Given the description of an element on the screen output the (x, y) to click on. 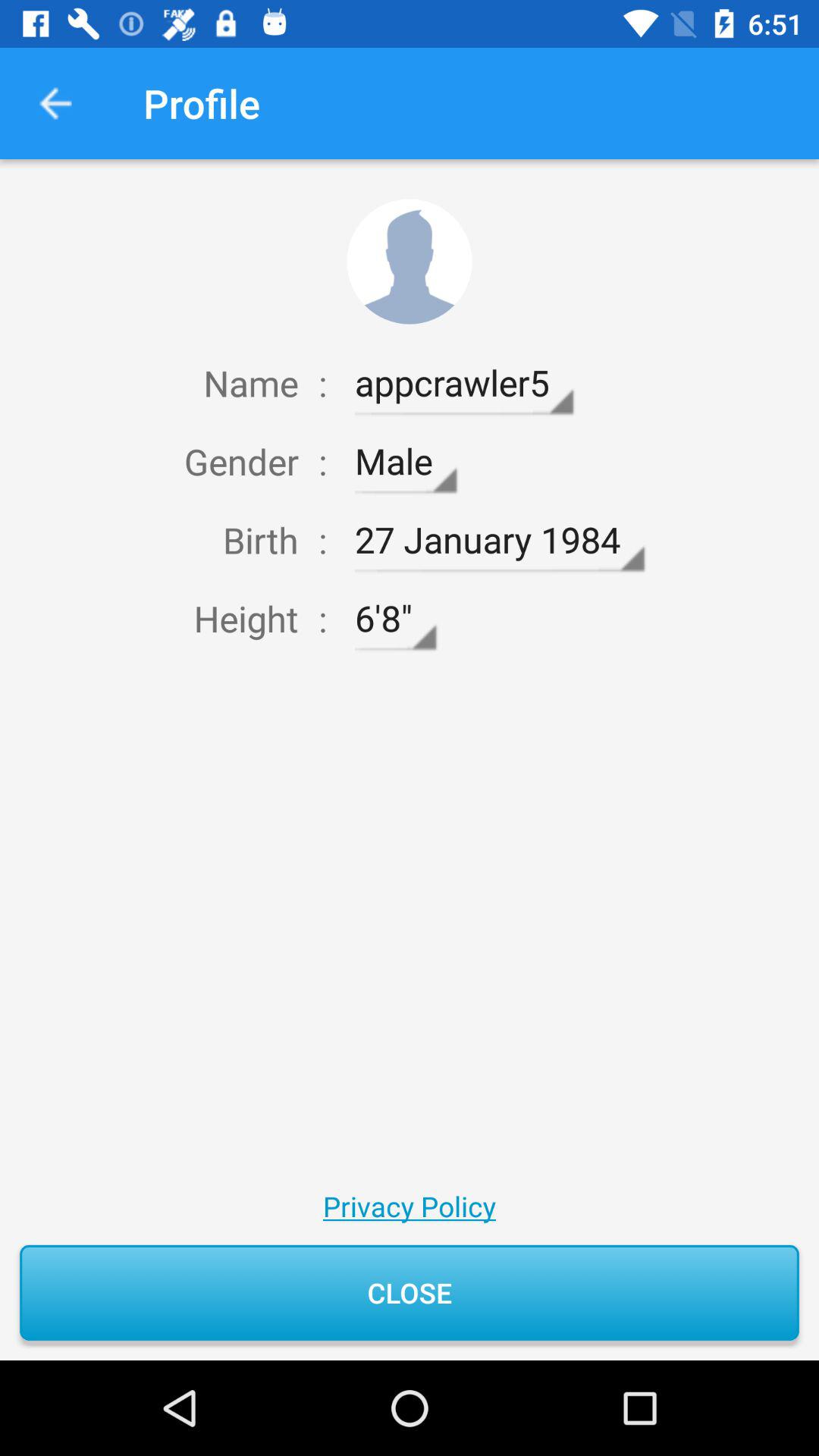
choose item below the appcrawler5 icon (405, 461)
